Given the description of an element on the screen output the (x, y) to click on. 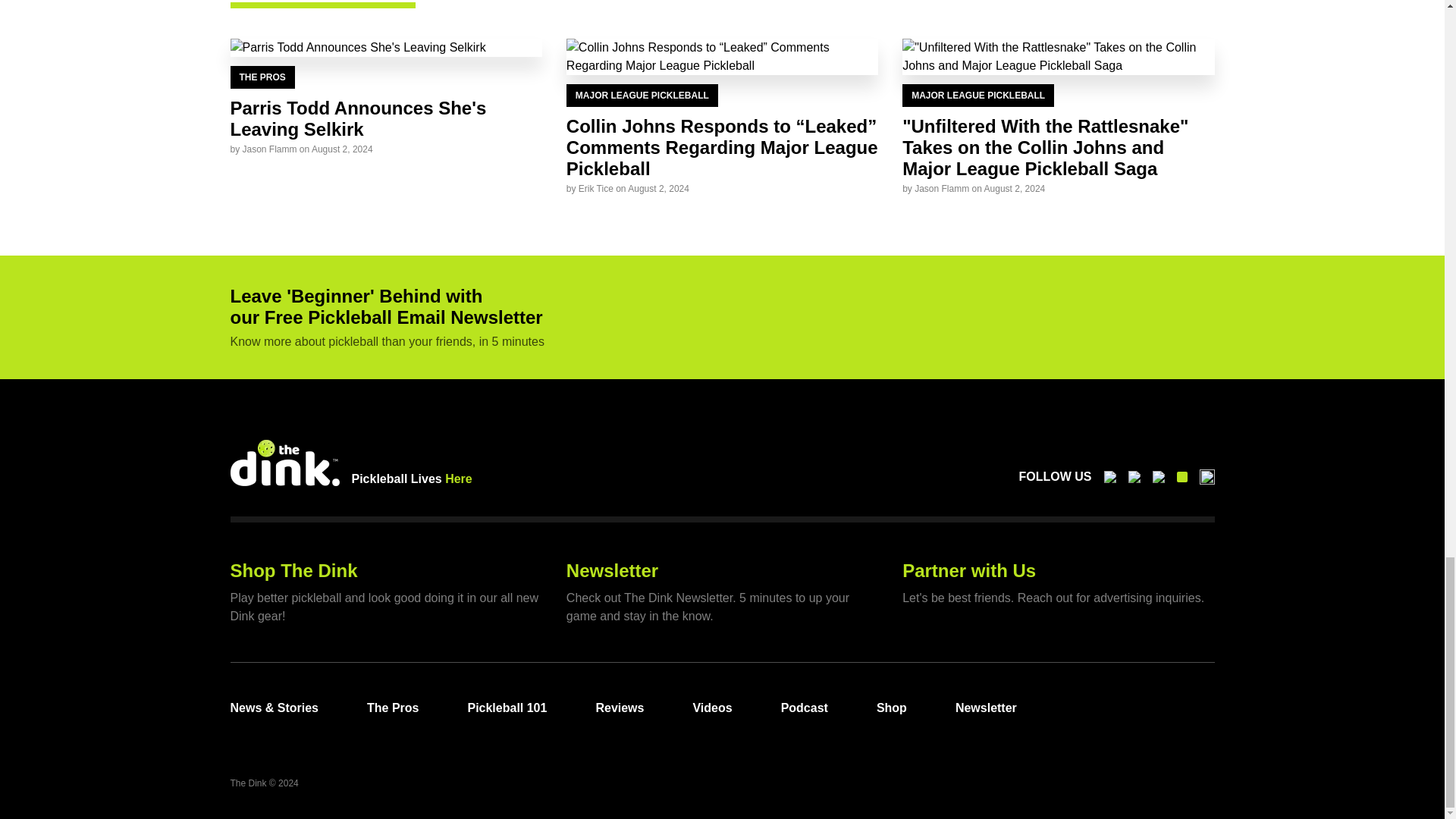
Reviews (619, 708)
Shop The Dink (294, 570)
Partner with Us (968, 570)
The Pros (392, 708)
Pickleball 101 (507, 708)
Newsletter (612, 570)
